Given the description of an element on the screen output the (x, y) to click on. 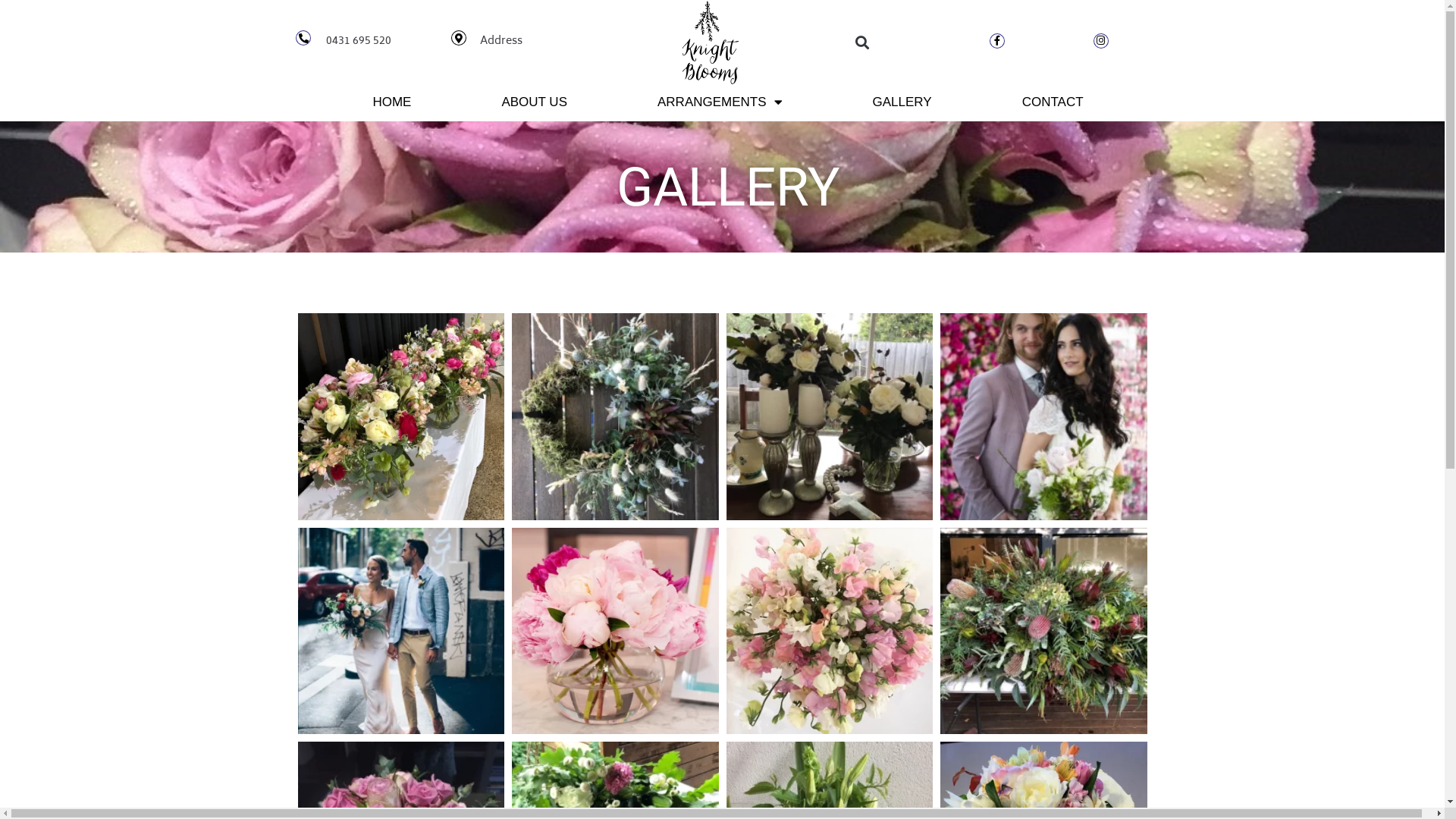
GALLERY Element type: text (902, 101)
Address Element type: text (501, 40)
HOME Element type: text (391, 101)
ABOUT US Element type: text (534, 101)
ARRANGEMENTS Element type: text (719, 101)
CONTACT Element type: text (1052, 101)
0431 695 520 Element type: text (358, 40)
